Given the description of an element on the screen output the (x, y) to click on. 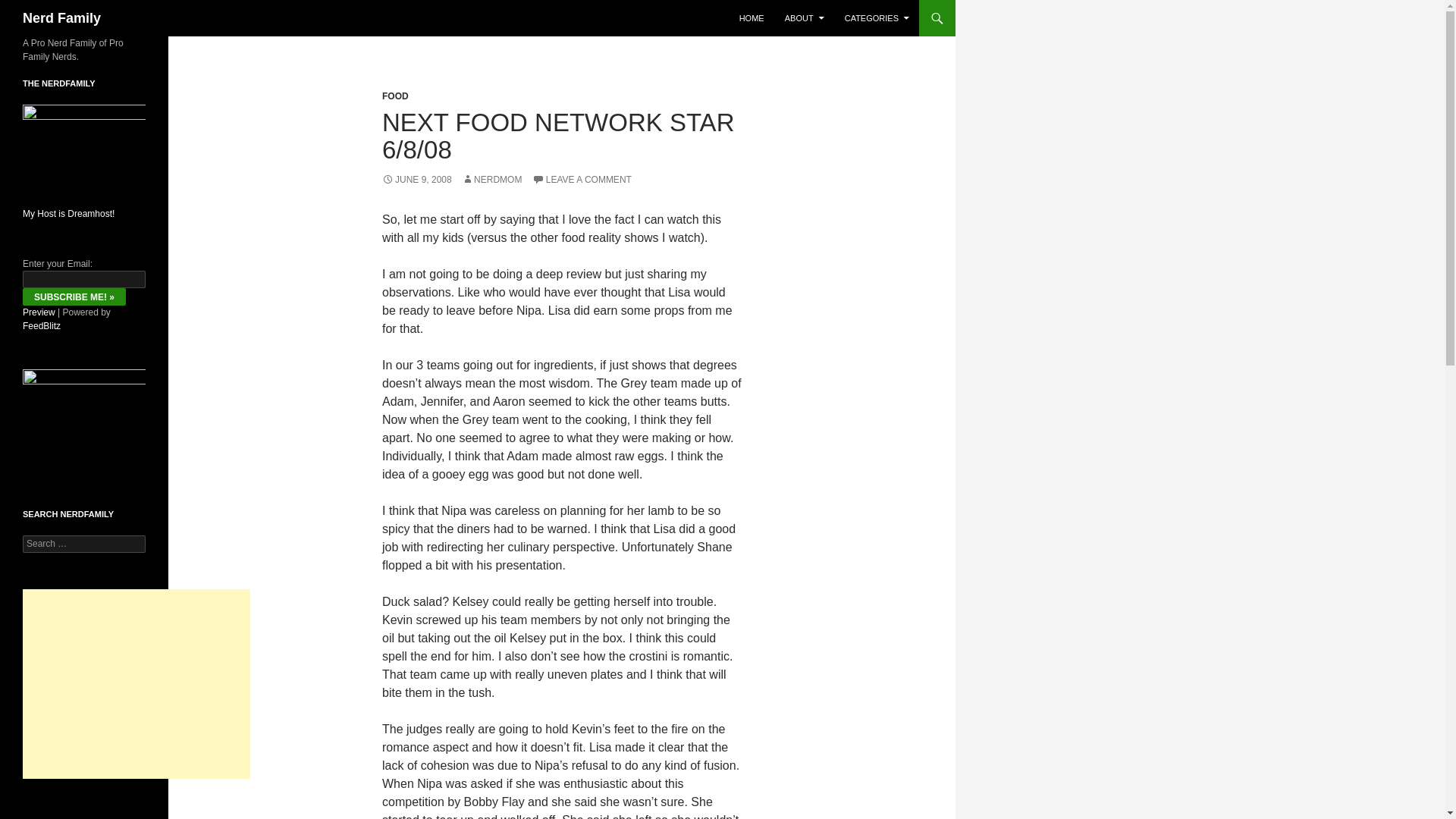
Preview (39, 312)
ABOUT (804, 18)
HOME (751, 18)
Search (30, 8)
JUNE 9, 2008 (416, 179)
FeedBlitz (42, 326)
NERDMOM (491, 179)
FOOD (395, 95)
CATEGORIES (876, 18)
LEAVE A COMMENT (581, 179)
